Given the description of an element on the screen output the (x, y) to click on. 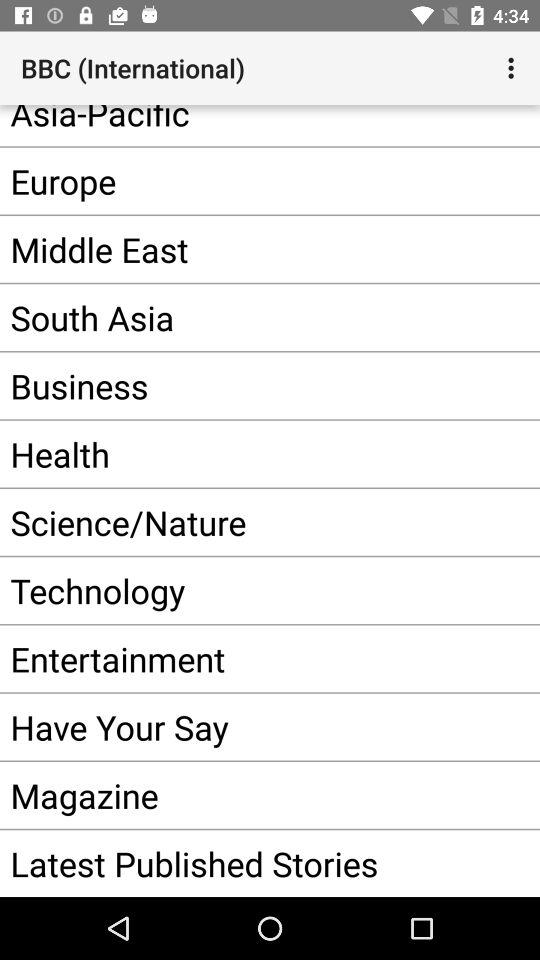
flip until the latest published stories app (240, 863)
